Given the description of an element on the screen output the (x, y) to click on. 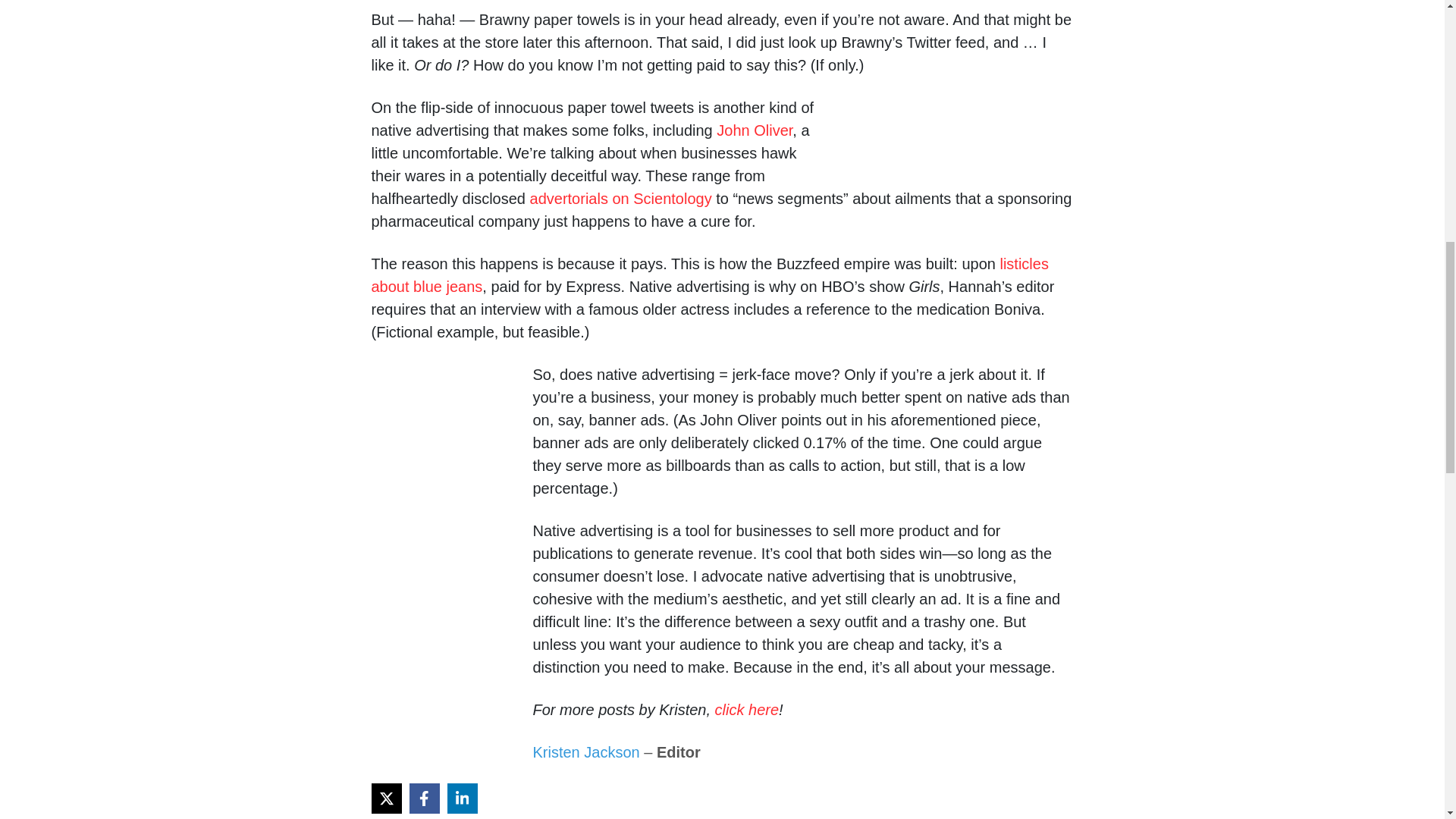
Kristen Jackson (585, 751)
listicles about blue jeans (709, 274)
John Oliver (754, 130)
click here (746, 709)
advertorials on Scientology (620, 198)
